Given the description of an element on the screen output the (x, y) to click on. 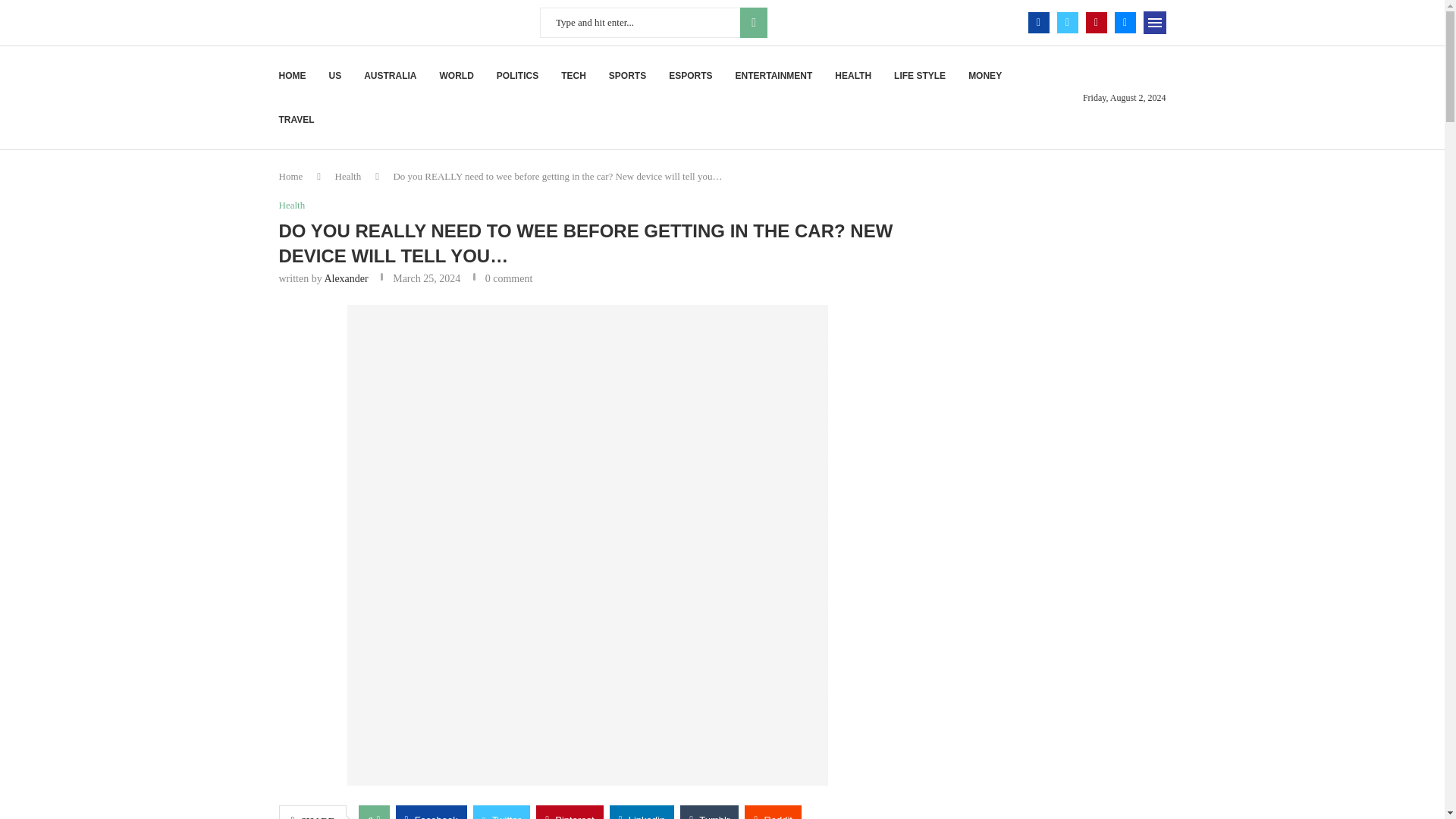
ESPORTS (689, 75)
POLITICS (517, 75)
LIFE STYLE (918, 75)
SEARCH (753, 22)
ENTERTAINMENT (773, 75)
AUSTRALIA (390, 75)
